Given the description of an element on the screen output the (x, y) to click on. 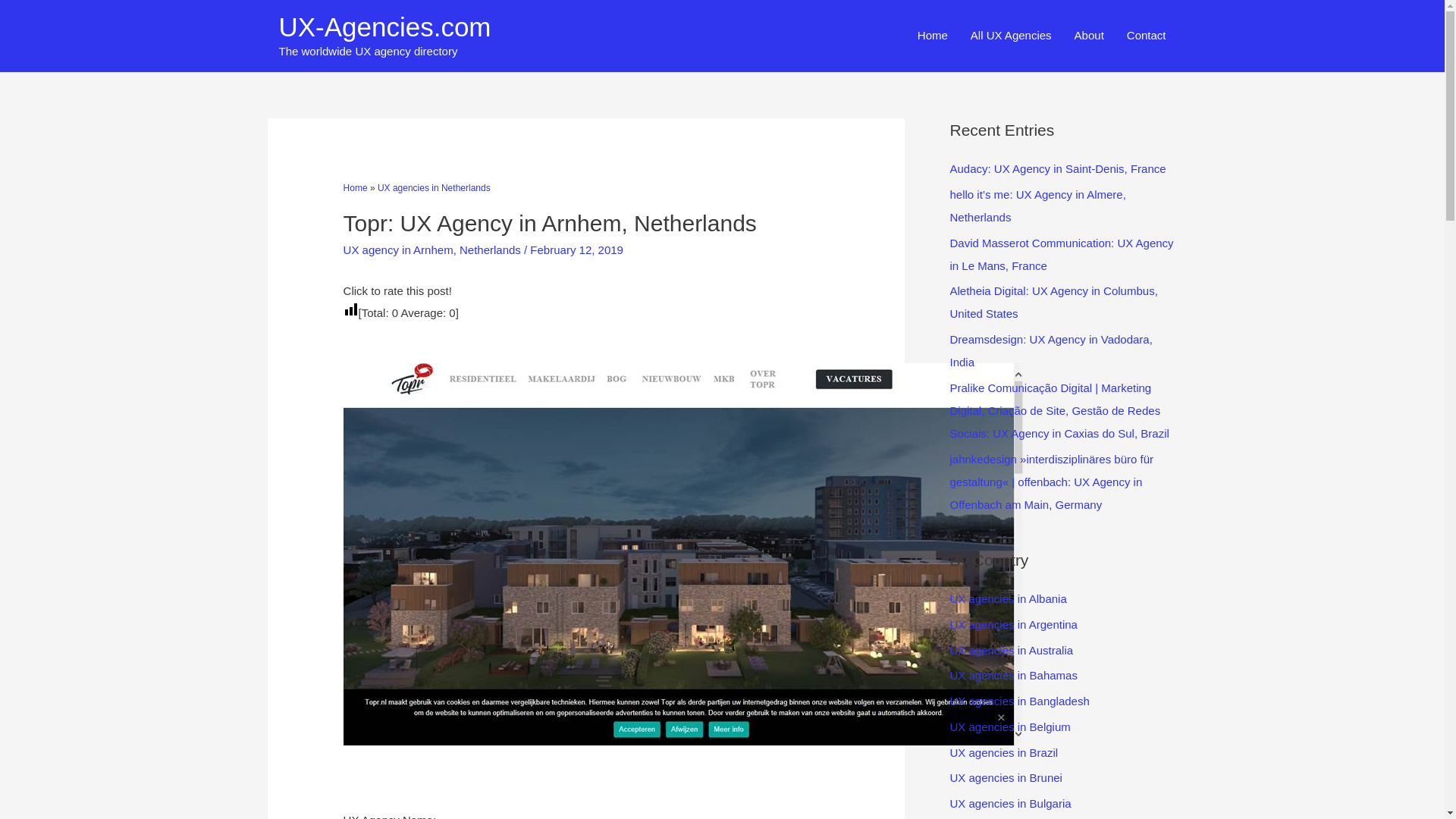
All UX Agencies (1010, 36)
Audacy: UX Agency in Saint-Denis, France (1057, 168)
UX-Agencies.com (385, 26)
David Masserot Communication: UX Agency in Le Mans, France (1061, 253)
UX agencies in Netherlands (433, 187)
UX agencies in Australia (1011, 649)
UX agencies in Bahamas (1013, 675)
UX agency in Arnhem, Netherlands (432, 249)
UX agencies in Argentina (1013, 624)
Dreamsdesign: UX Agency in Vadodara, India (1050, 350)
